Given the description of an element on the screen output the (x, y) to click on. 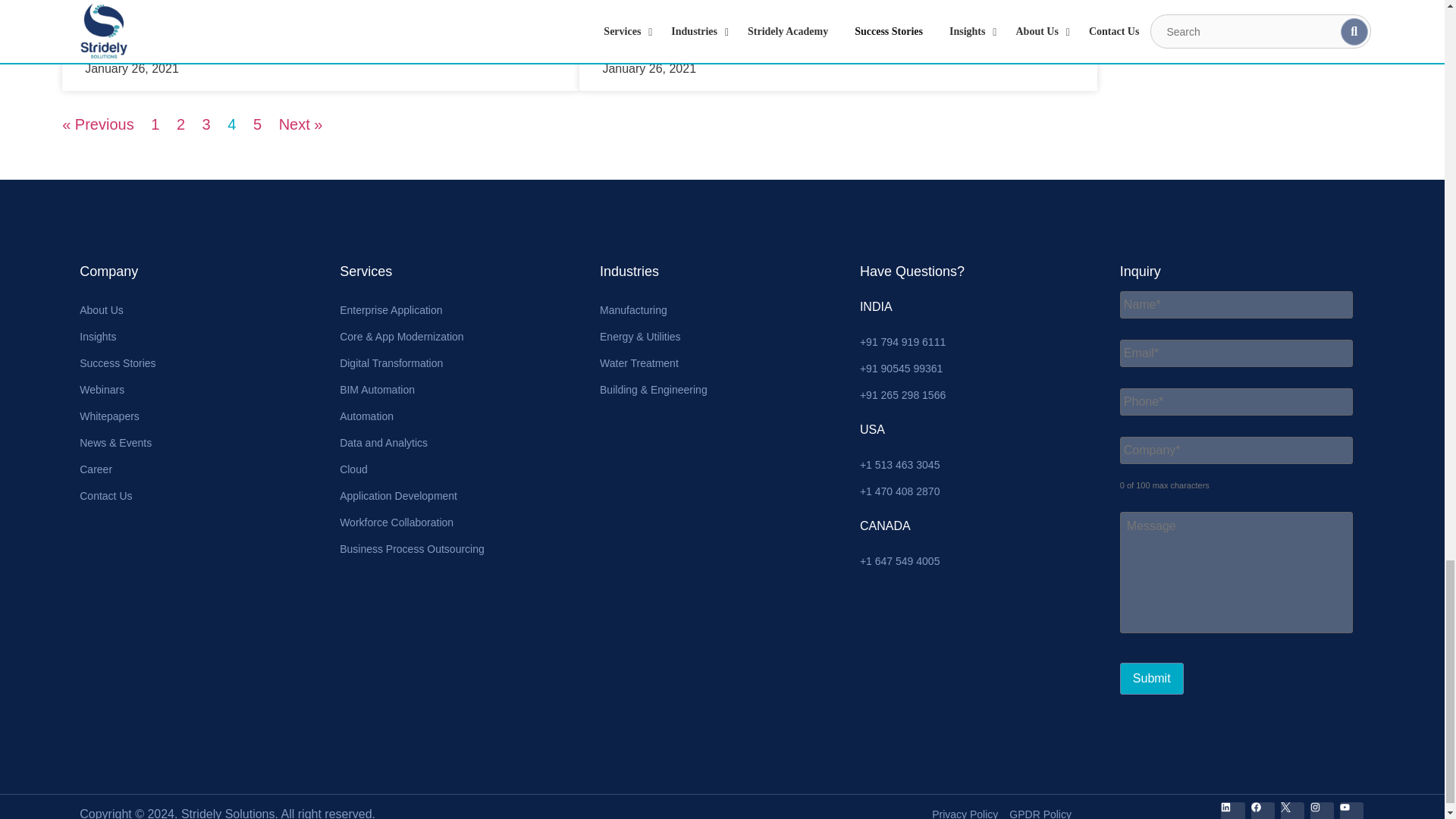
Submit (1151, 678)
